Given the description of an element on the screen output the (x, y) to click on. 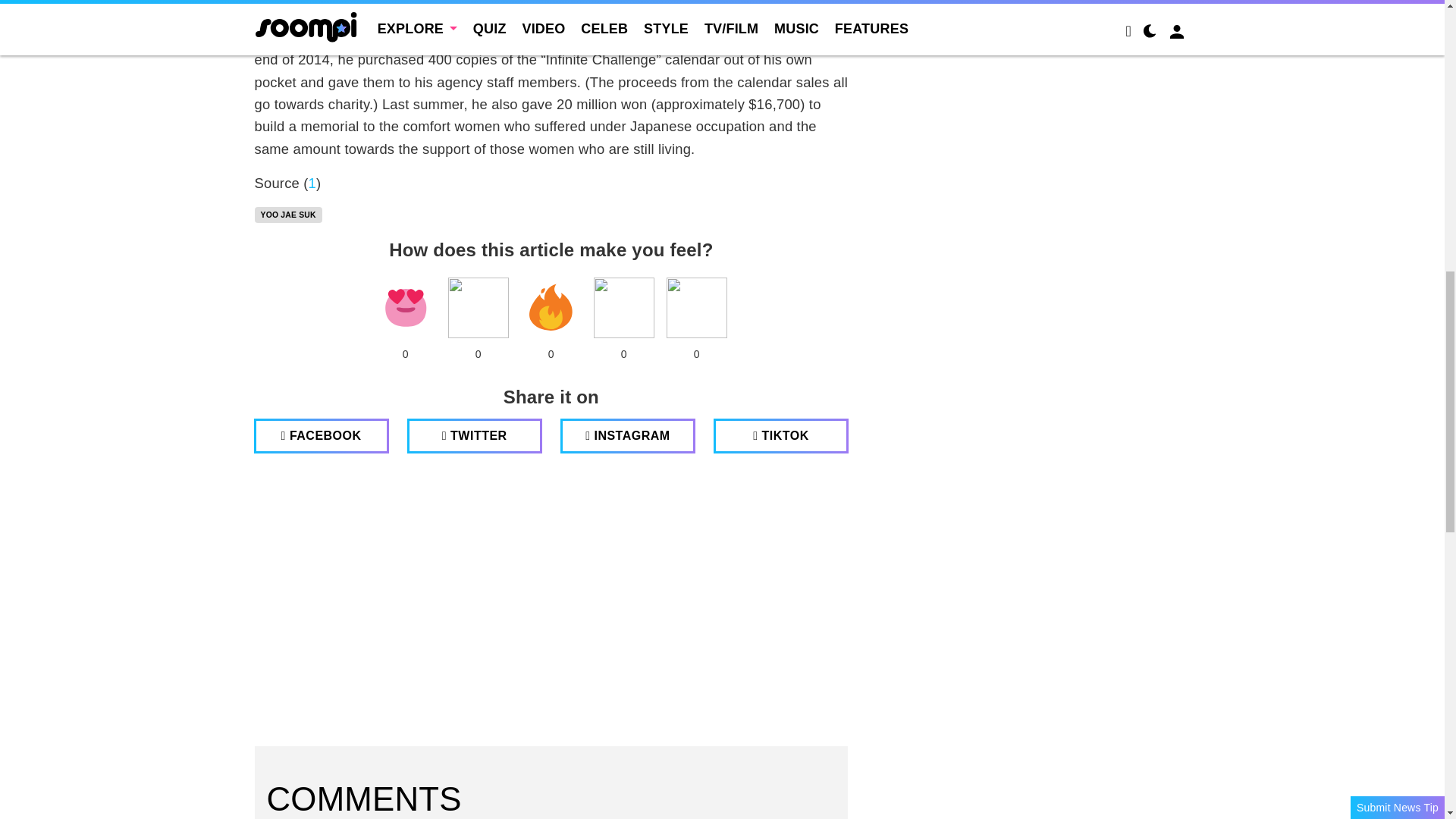
OMG (696, 307)
fire (550, 307)
heart (405, 307)
Fire (550, 307)
LOL (478, 307)
Yoo Jae Suk (287, 215)
lol (478, 307)
Crying (623, 307)
cry (623, 307)
Heart (405, 307)
YOO JAE SUK (287, 215)
